Given the description of an element on the screen output the (x, y) to click on. 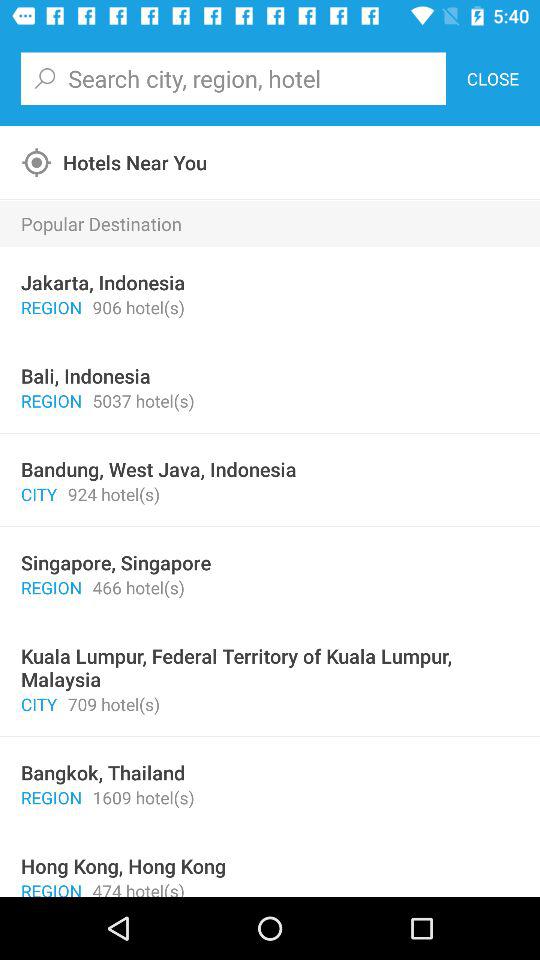
enter search term (233, 78)
